Given the description of an element on the screen output the (x, y) to click on. 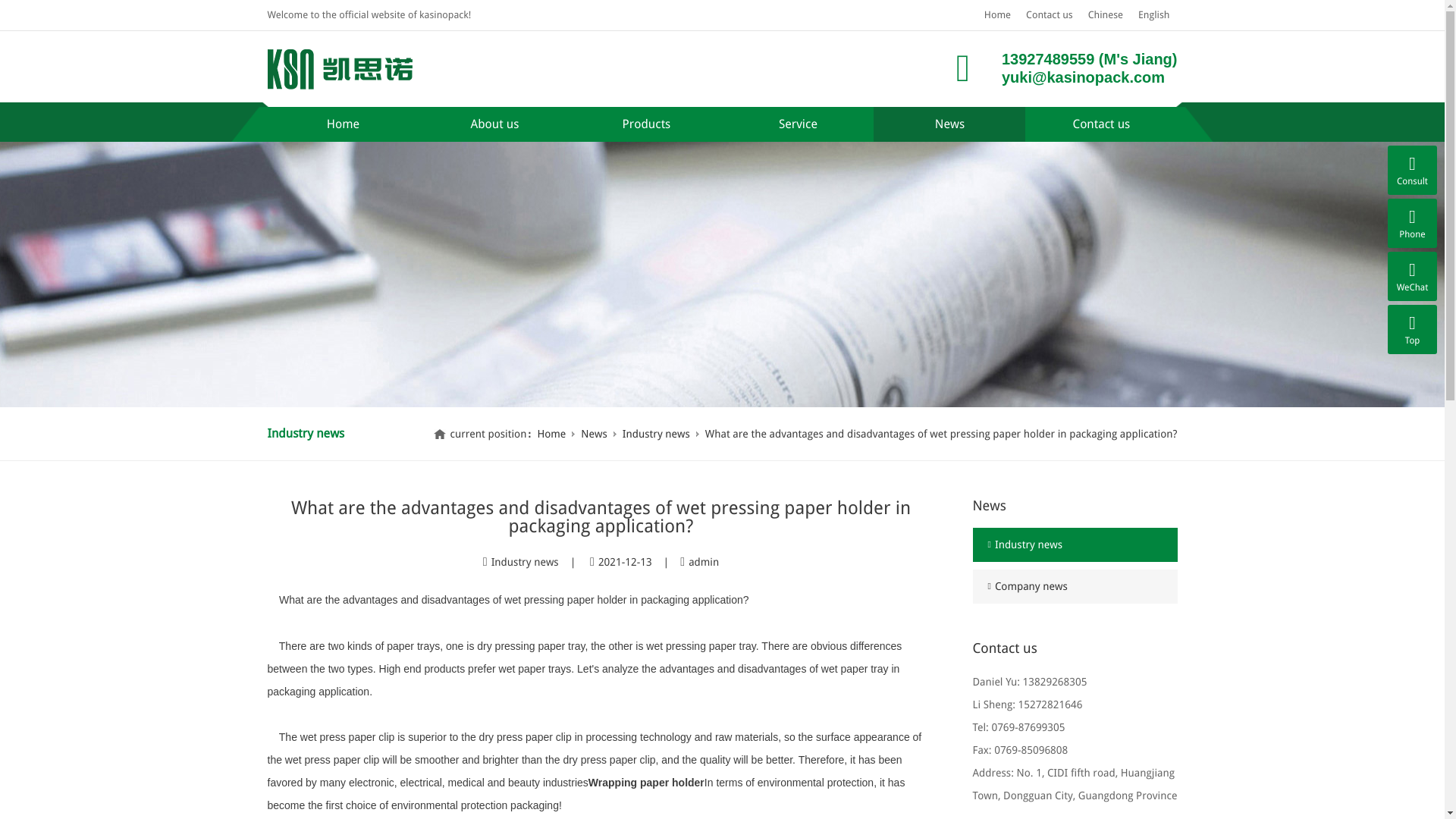
Home (342, 124)
Industry news (656, 433)
Contact us (1048, 15)
Products (646, 124)
Home (342, 124)
Home (996, 15)
News (949, 124)
Contact us (1100, 124)
Products (646, 124)
Chinese (1105, 15)
